Given the description of an element on the screen output the (x, y) to click on. 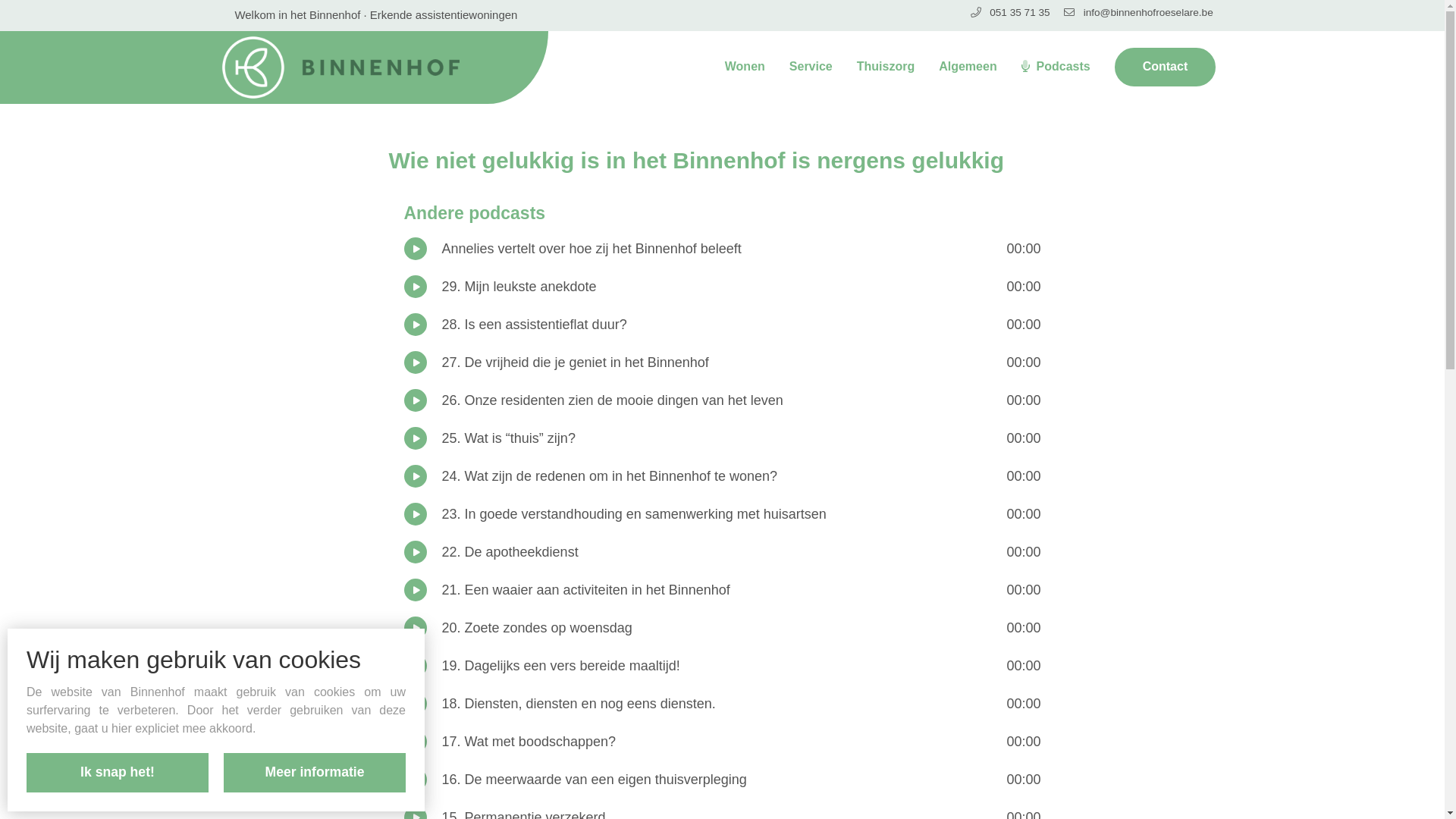
29. Mijn leukste anekdote
00:00 Element type: text (721, 286)
17. Wat met boodschappen?
00:00 Element type: text (721, 741)
  Podcasts Element type: text (1055, 65)
Wonen Element type: text (744, 65)
16. De meerwaarde van een eigen thuisverpleging
00:00 Element type: text (721, 779)
Service Element type: text (810, 65)
Contact Element type: text (1165, 65)
26. Onze residenten zien de mooie dingen van het leven
00:00 Element type: text (721, 400)
Algemeen Element type: text (967, 65)
19. Dagelijks een vers bereide maaltijd!
00:00 Element type: text (721, 665)
22. De apotheekdienst
00:00 Element type: text (721, 552)
  info@binnenhofroeselare.be Element type: text (1137, 12)
27. De vrijheid die je geniet in het Binnenhof
00:00 Element type: text (721, 362)
  051 35 71 35 Element type: text (1010, 12)
18. Diensten, diensten en nog eens diensten.
00:00 Element type: text (721, 703)
20. Zoete zondes op woensdag
00:00 Element type: text (721, 627)
24. Wat zijn de redenen om in het Binnenhof te wonen?
00:00 Element type: text (721, 476)
28. Is een assistentieflat duur?
00:00 Element type: text (721, 324)
Ik snap het! Element type: text (117, 772)
Thuiszorg Element type: text (885, 65)
Meer informatie Element type: text (314, 772)
Annelies vertelt over hoe zij het Binnenhof beleeft
00:00 Element type: text (721, 248)
21. Een waaier aan activiteiten in het Binnenhof
00:00 Element type: text (721, 589)
